Given the description of an element on the screen output the (x, y) to click on. 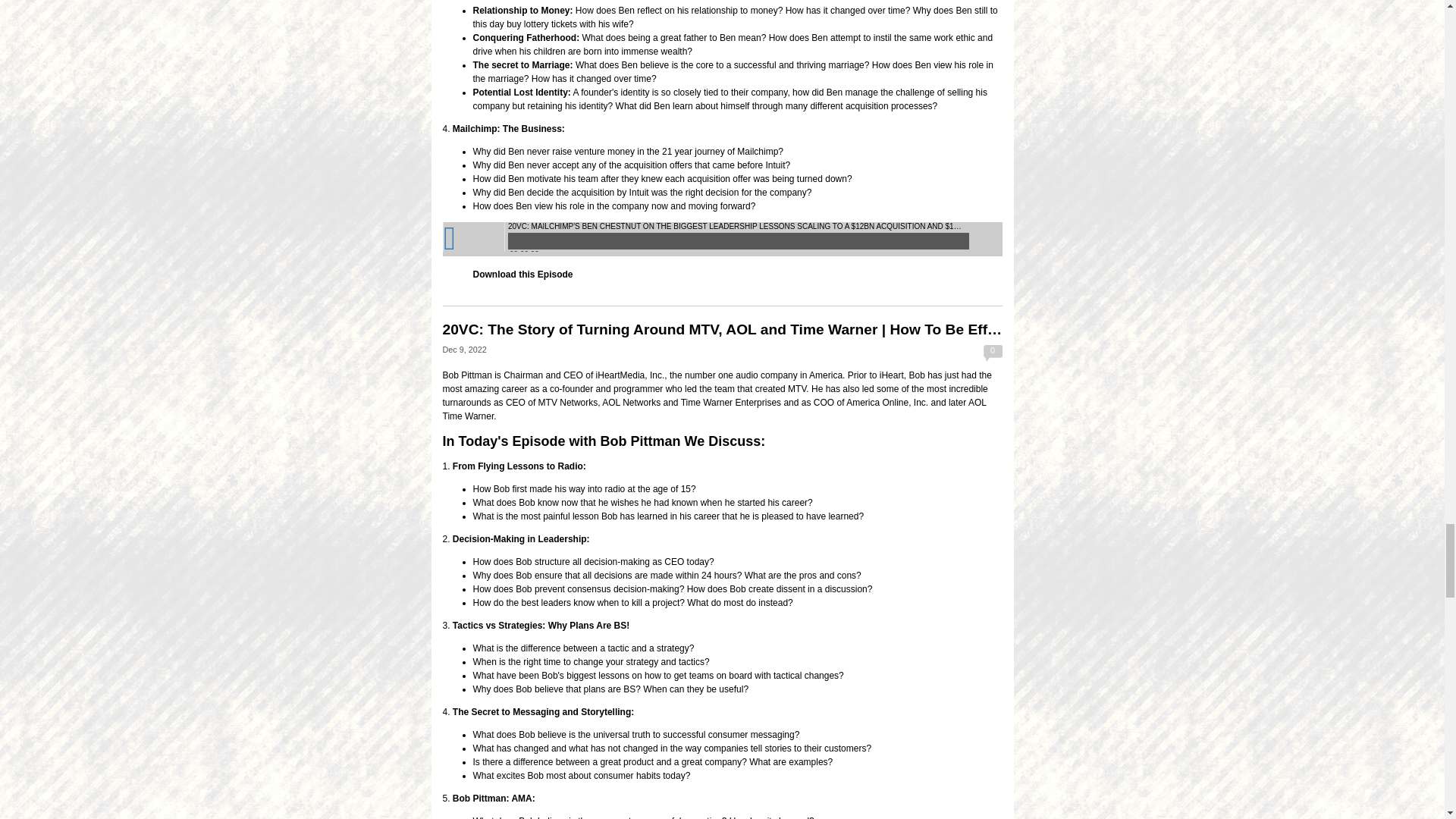
Libsyn Player (722, 238)
